Given the description of an element on the screen output the (x, y) to click on. 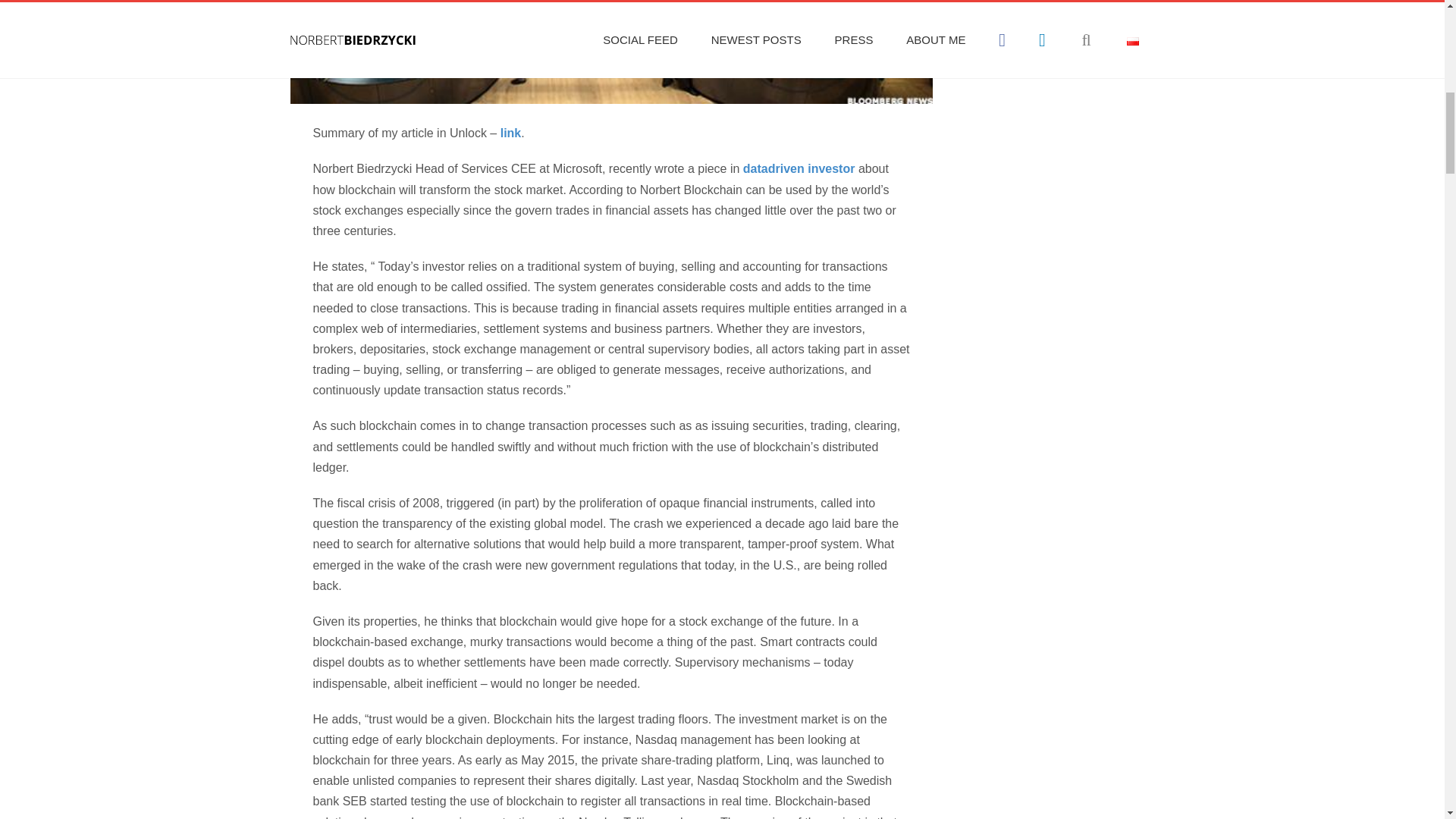
link (510, 132)
datadriven investor  (800, 168)
